Given the description of an element on the screen output the (x, y) to click on. 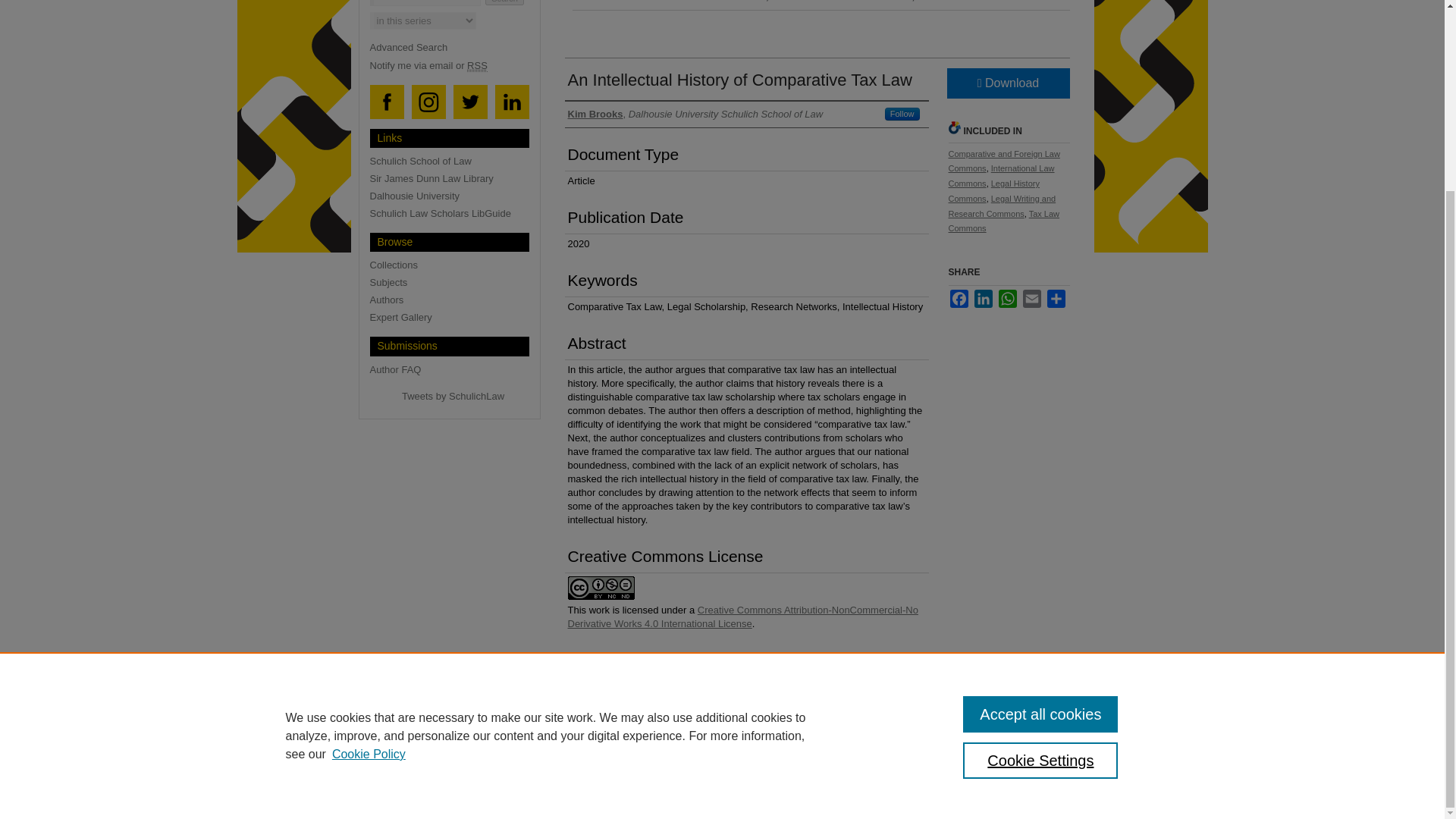
Facebook (958, 298)
Tax Law Commons (1003, 221)
Comparative and Foreign Law Commons (1003, 161)
Email (1031, 298)
Follow (902, 113)
WhatsApp (1006, 298)
Legal Writing and Research Commons (1001, 206)
Legal History Commons (993, 191)
Download (1007, 82)
Follow Kim Brooks (902, 113)
International Law Commons (1000, 175)
An Intellectual History of Comparative Tax Law (739, 79)
Legal History Commons (993, 191)
Advanced Search (408, 47)
